Given the description of an element on the screen output the (x, y) to click on. 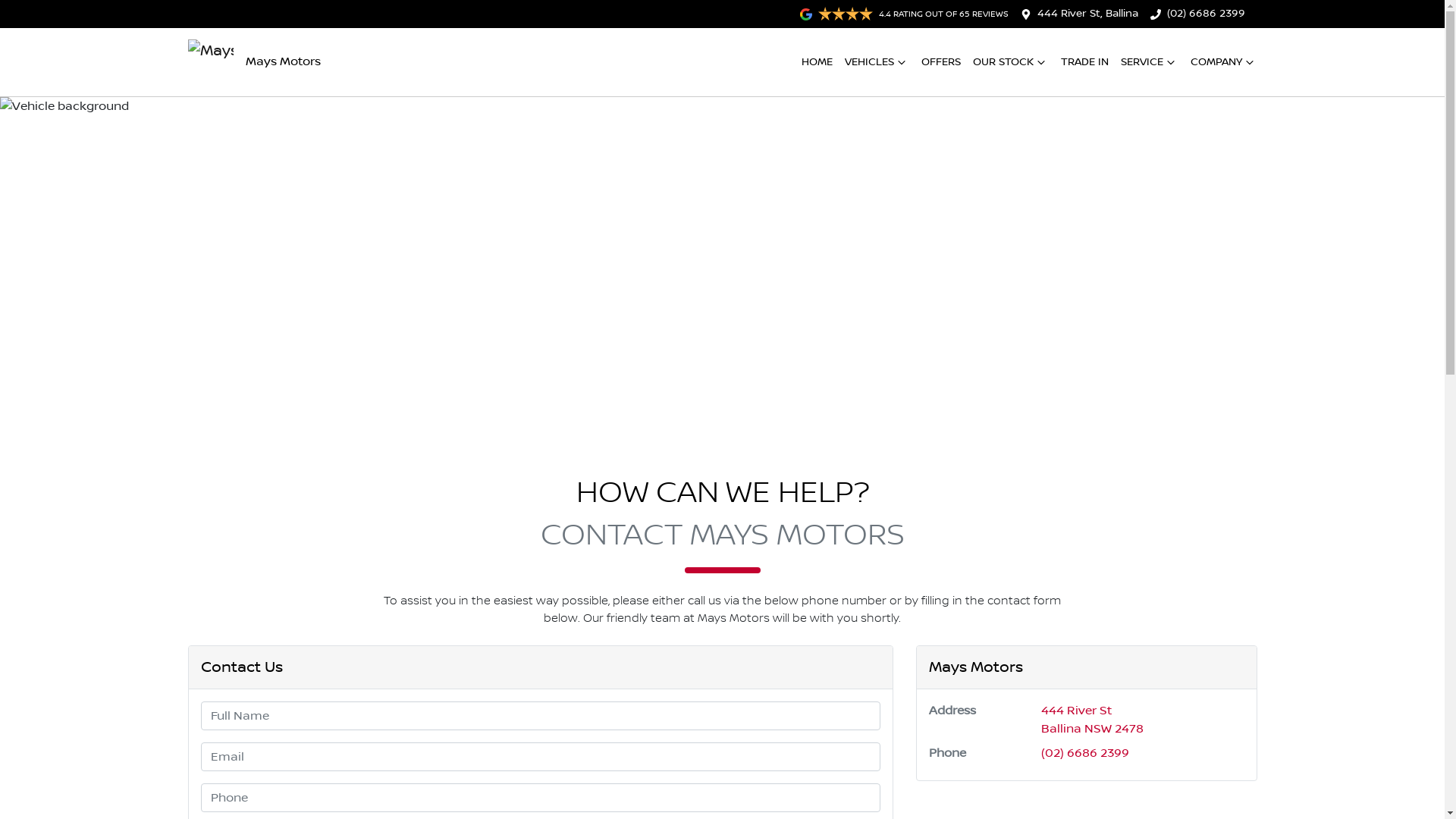
SERVICE Element type: text (1149, 62)
(02) 6686 2399 Element type: text (1085, 752)
444 River St
Ballina NSW 2478 Element type: text (1092, 719)
VEHICLES Element type: text (876, 62)
HOME Element type: text (815, 62)
OFFERS Element type: text (940, 62)
(02) 6686 2399 Element type: text (1205, 13)
Mays Motors Element type: text (254, 62)
OUR STOCK Element type: text (1010, 62)
444 River St, Ballina Element type: text (1087, 13)
TRADE IN Element type: text (1083, 62)
COMPANY Element type: text (1223, 62)
